Given the description of an element on the screen output the (x, y) to click on. 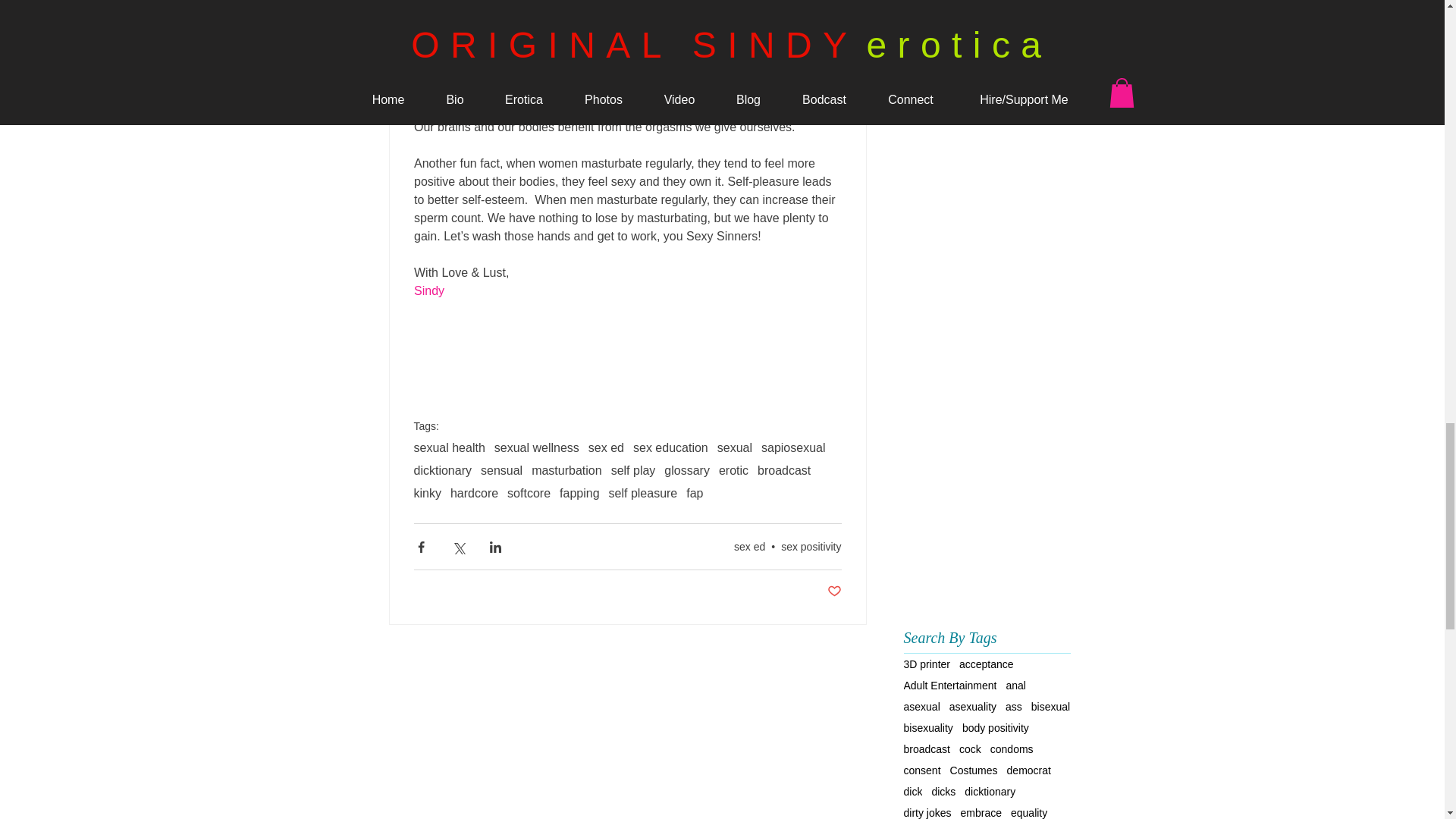
erotic (733, 470)
broadcast (783, 470)
Sindy (428, 290)
self play (633, 470)
sexual wellness (537, 448)
kinky (427, 493)
sapiosexual (793, 448)
sexual health (448, 448)
masturbation (566, 470)
sex ed (606, 448)
dicktionary (442, 470)
glossary (686, 470)
sensual (501, 470)
sex education (670, 448)
sexual (734, 448)
